Given the description of an element on the screen output the (x, y) to click on. 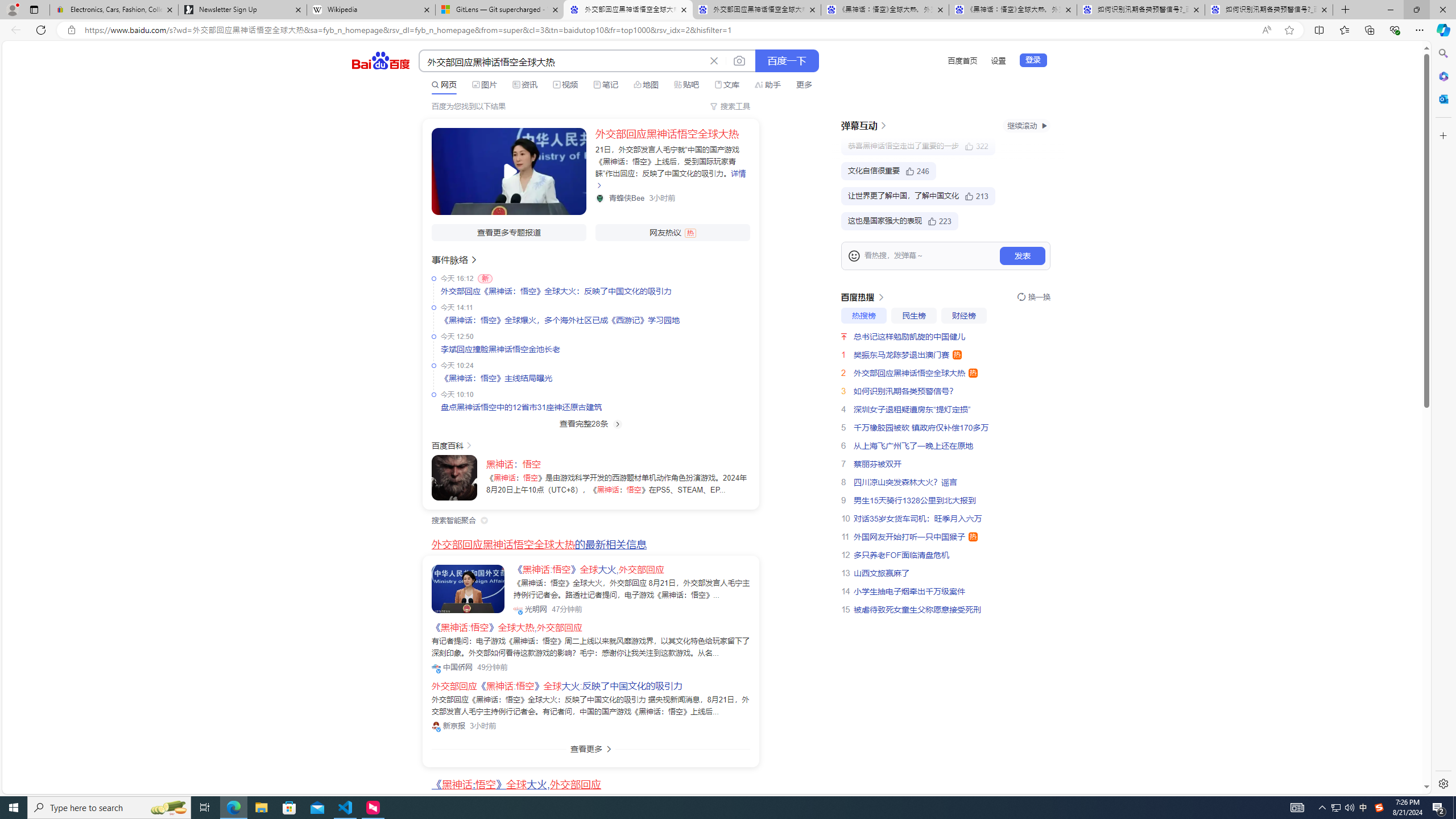
Newsletter Sign Up (242, 9)
